Given the description of an element on the screen output the (x, y) to click on. 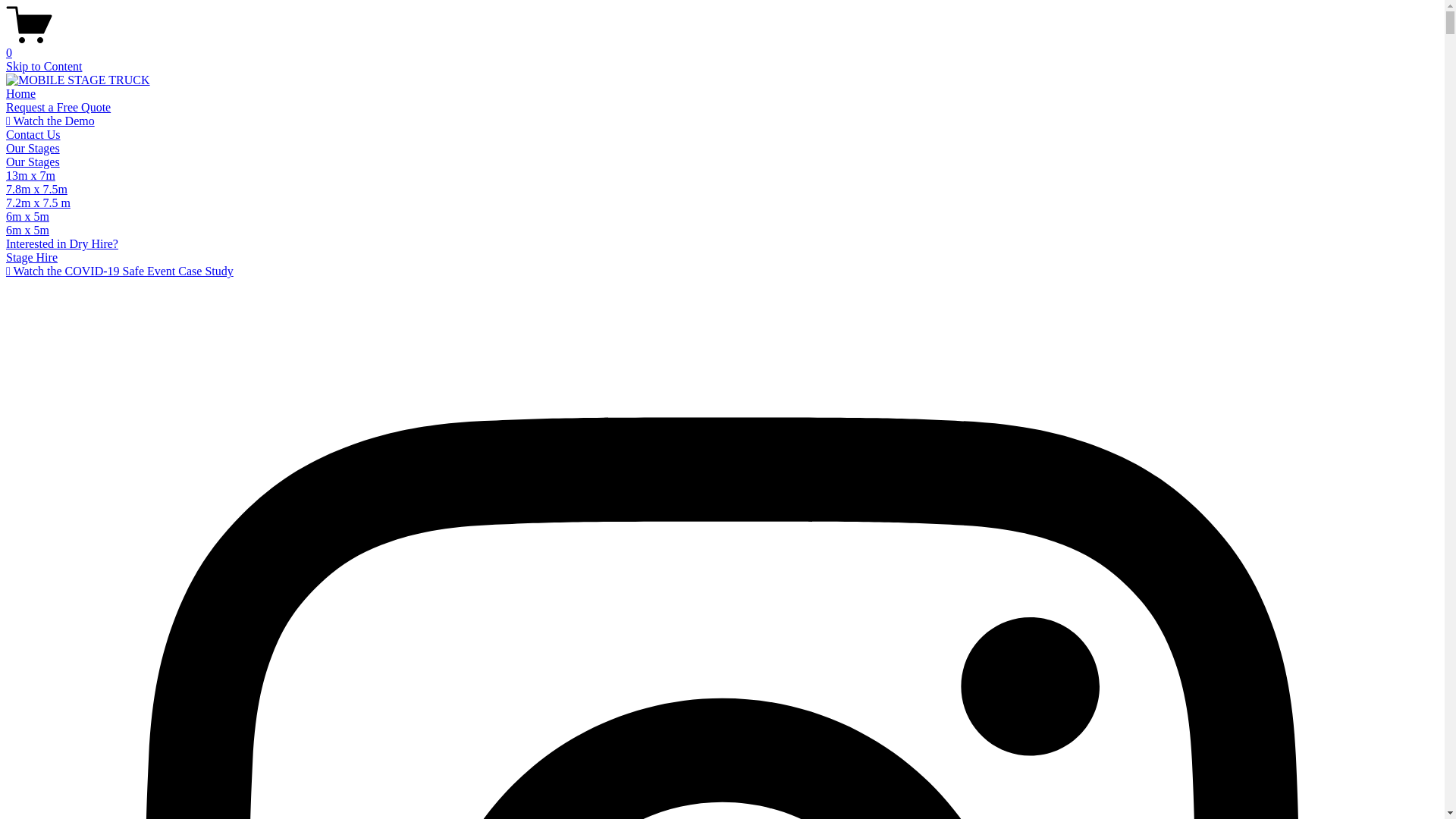
6m x 5m Element type: text (27, 229)
0 Element type: text (722, 45)
7.2m x 7.5 m Element type: text (38, 202)
Skip to Content Element type: text (43, 65)
Interested in Dry Hire? Element type: text (62, 243)
Our Stages Element type: text (32, 147)
6m x 5m Element type: text (27, 216)
13m x 7m Element type: text (30, 175)
Stage Hire Element type: text (31, 257)
Contact Us Element type: text (33, 134)
Our Stages Element type: text (32, 161)
7.8m x 7.5m Element type: text (36, 188)
Home Element type: text (20, 93)
Request a Free Quote Element type: text (58, 106)
